Given the description of an element on the screen output the (x, y) to click on. 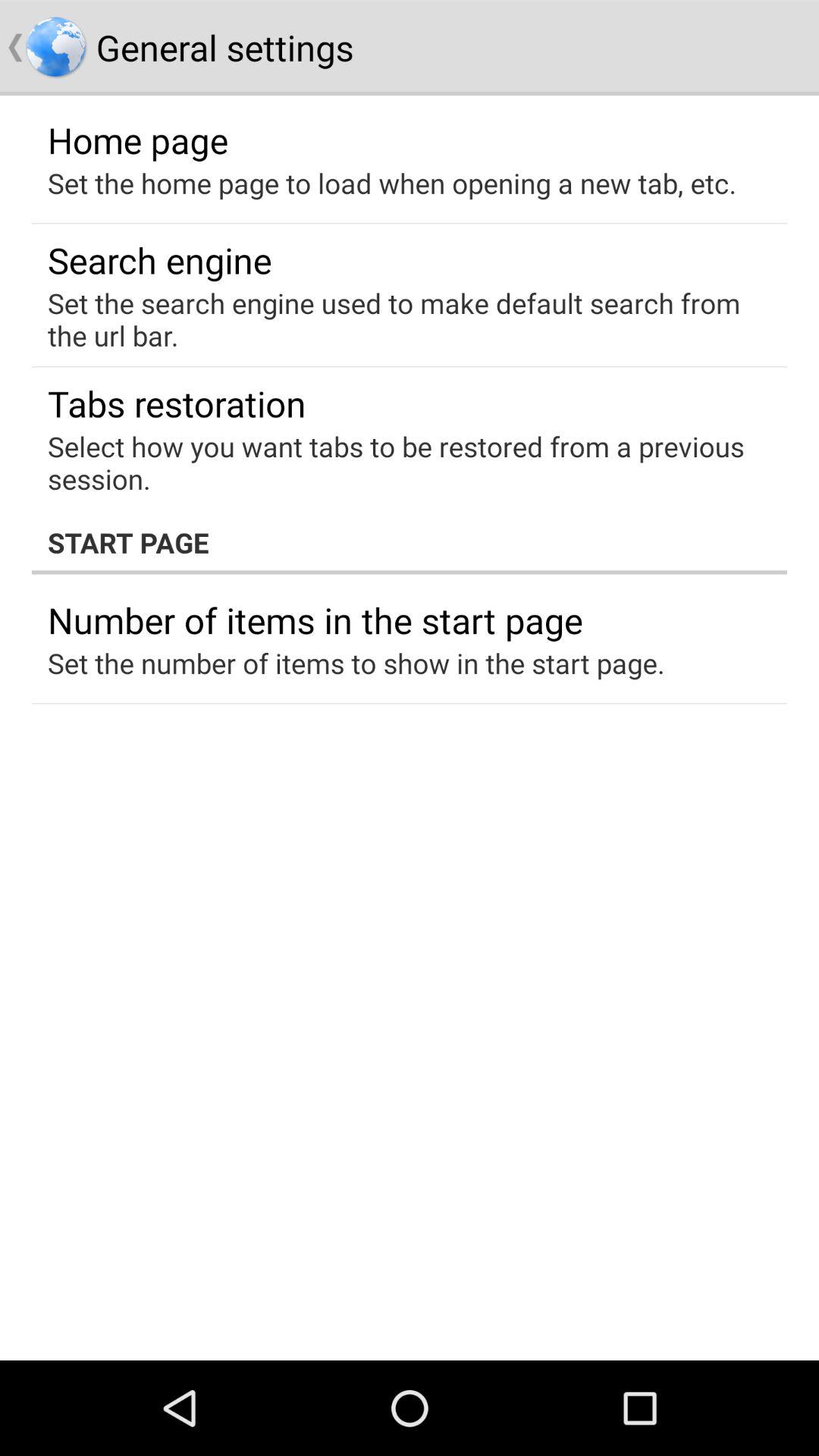
jump until select how you app (399, 462)
